Given the description of an element on the screen output the (x, y) to click on. 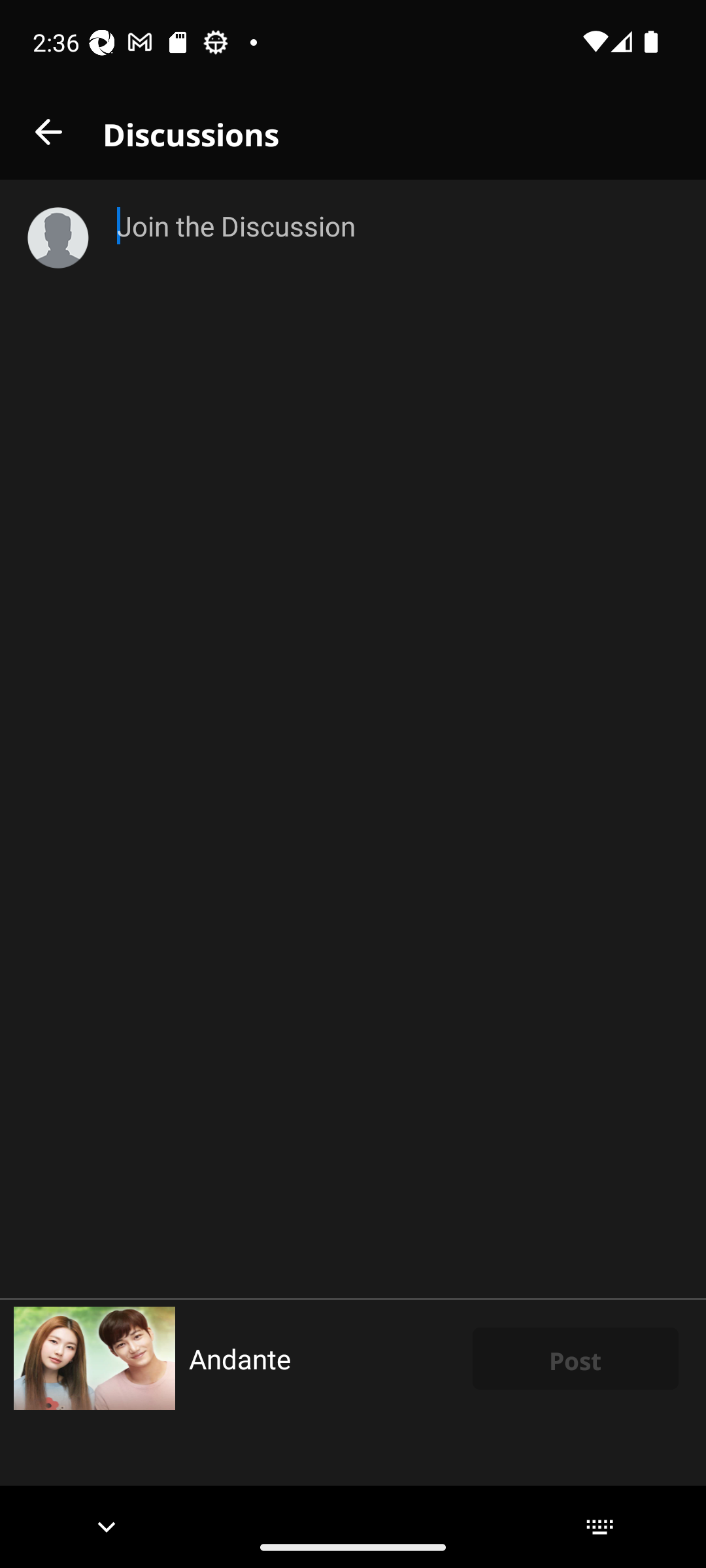
close_button (48, 131)
Join the Discussion (397, 738)
Post (575, 1358)
